Given the description of an element on the screen output the (x, y) to click on. 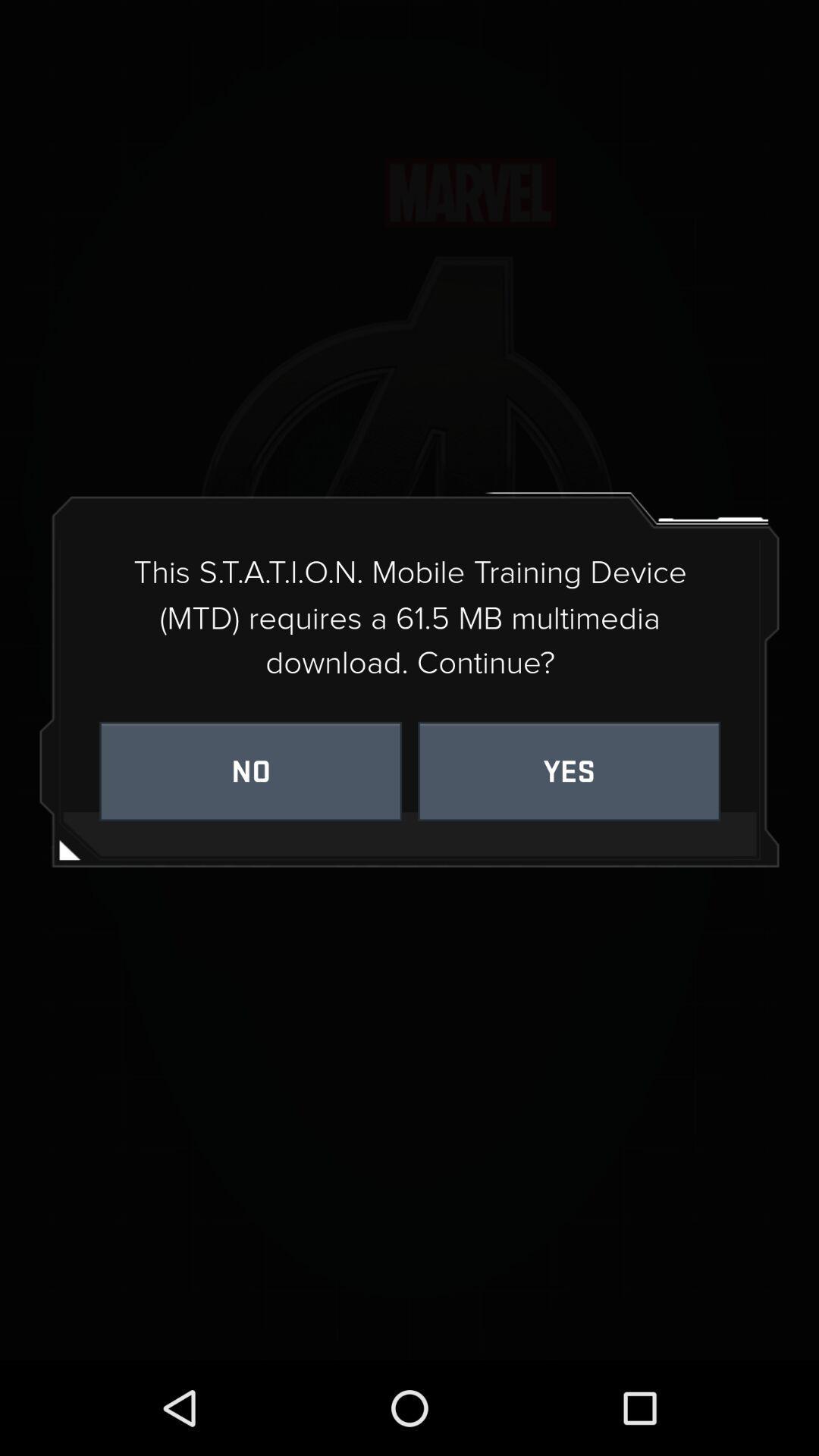
flip until the no (250, 771)
